Given the description of an element on the screen output the (x, y) to click on. 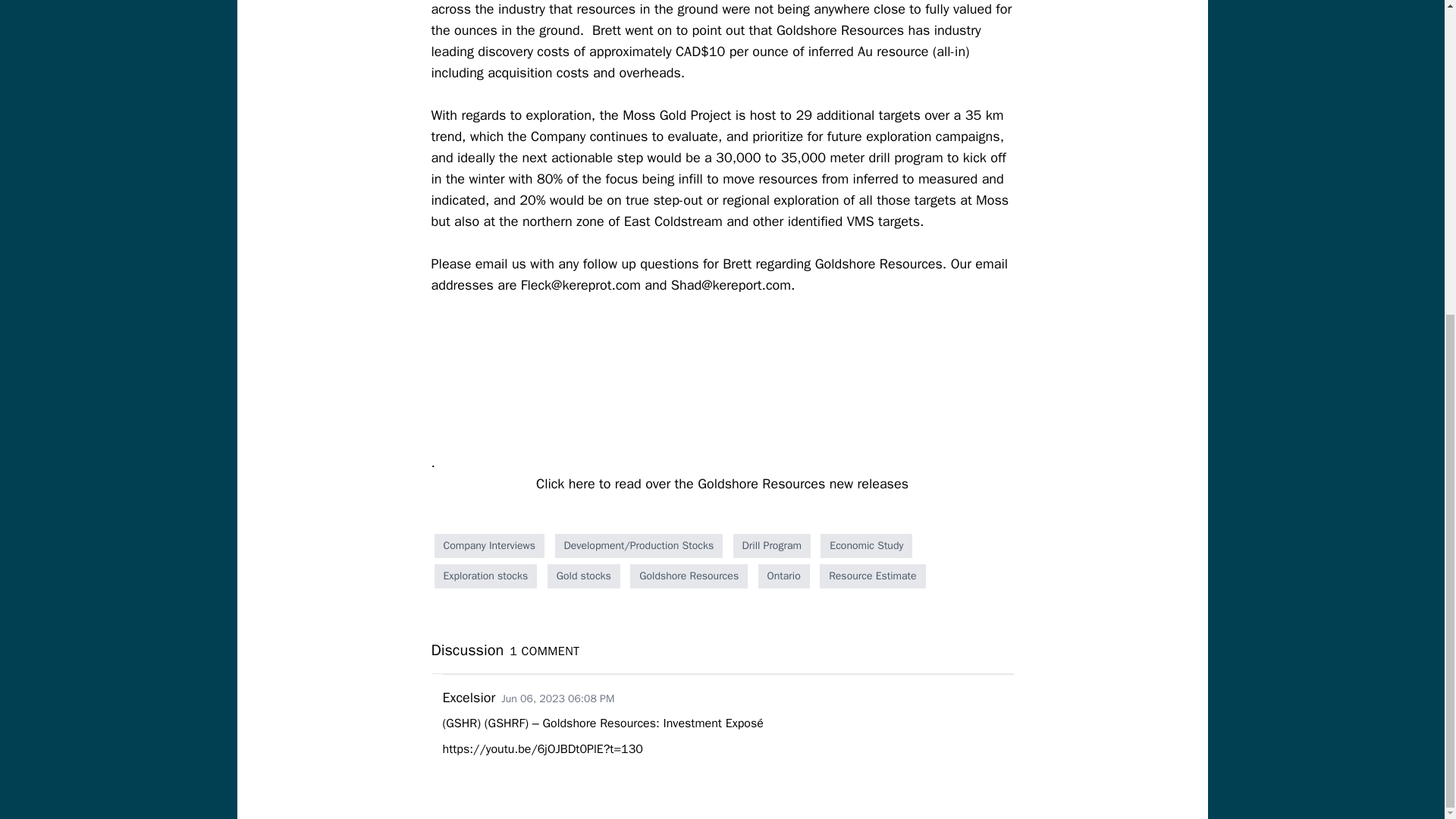
Economic Study (866, 545)
Gold stocks (583, 576)
Click here to read over the Goldshore Resources new releases (721, 483)
Exploration stocks (485, 576)
Goldshore Resources (689, 576)
Company Interviews (488, 545)
Ontario (783, 576)
Drill Program (771, 545)
